Given the description of an element on the screen output the (x, y) to click on. 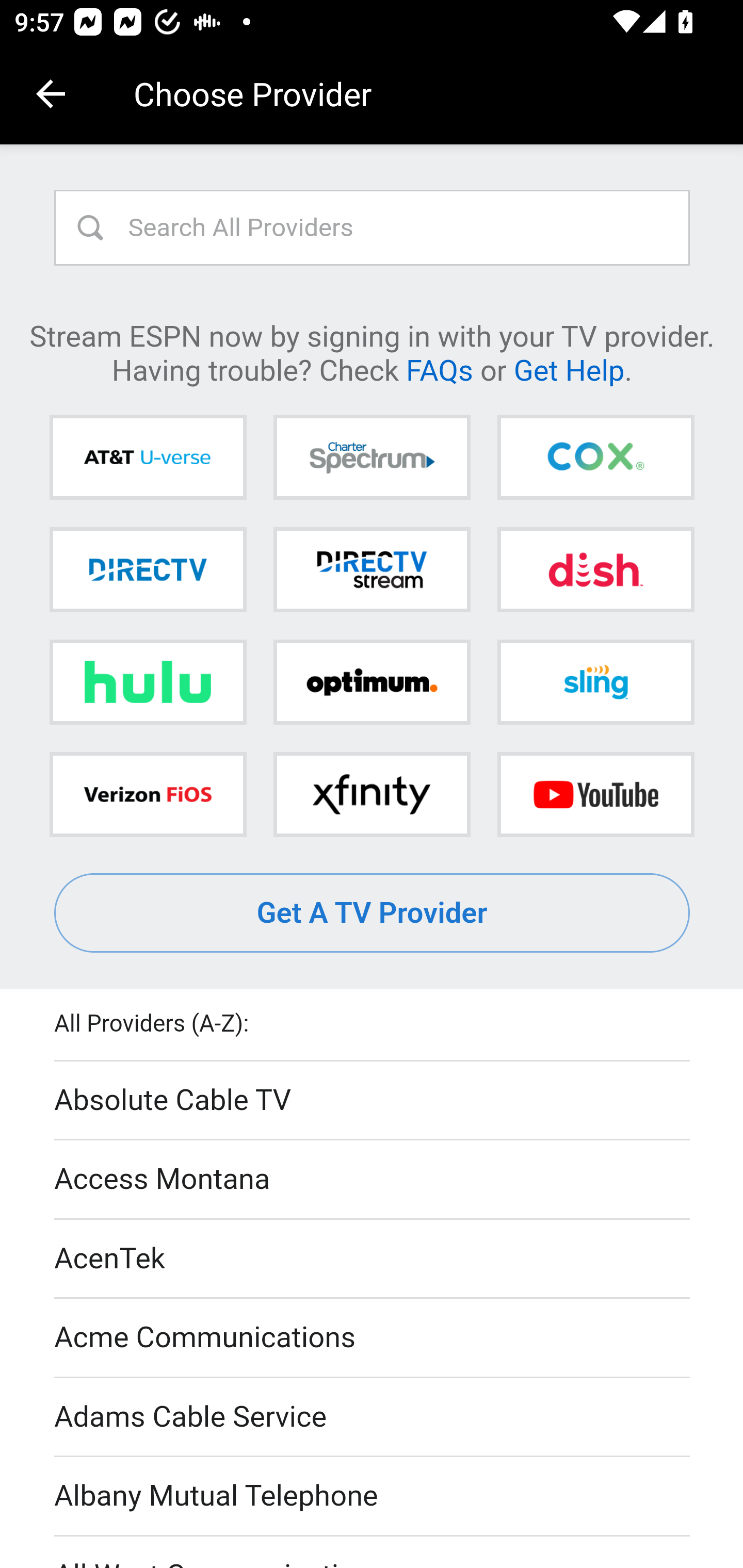
Navigate up (50, 93)
FAQs (438, 369)
Get Help (569, 369)
AT&T U-verse (147, 457)
Charter Spectrum (371, 457)
Cox (595, 457)
DIRECTV (147, 568)
DIRECTV STREAM (371, 568)
DISH (595, 568)
Hulu (147, 681)
Optimum (371, 681)
Sling TV (595, 681)
Verizon FiOS (147, 793)
Xfinity (371, 793)
YouTube TV (595, 793)
Get A TV Provider (372, 912)
Absolute Cable TV (372, 1100)
Access Montana (372, 1178)
AcenTek (372, 1258)
Acme Communications (372, 1338)
Adams Cable Service (372, 1417)
Albany Mutual Telephone (372, 1497)
